Given the description of an element on the screen output the (x, y) to click on. 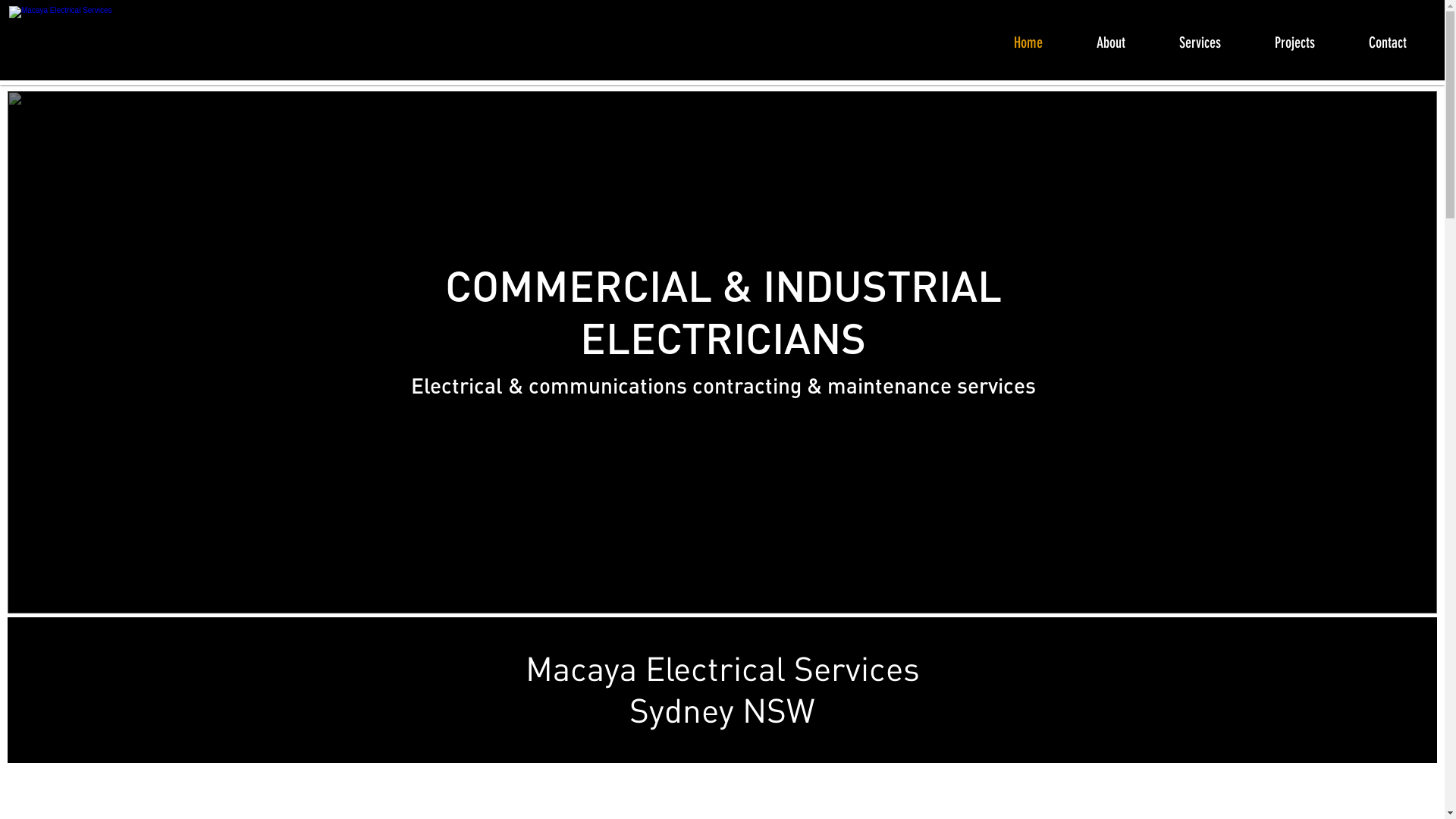
About Element type: text (1122, 40)
Contact Element type: text (1398, 40)
Services Element type: text (1211, 40)
Home Element type: text (1039, 40)
